Given the description of an element on the screen output the (x, y) to click on. 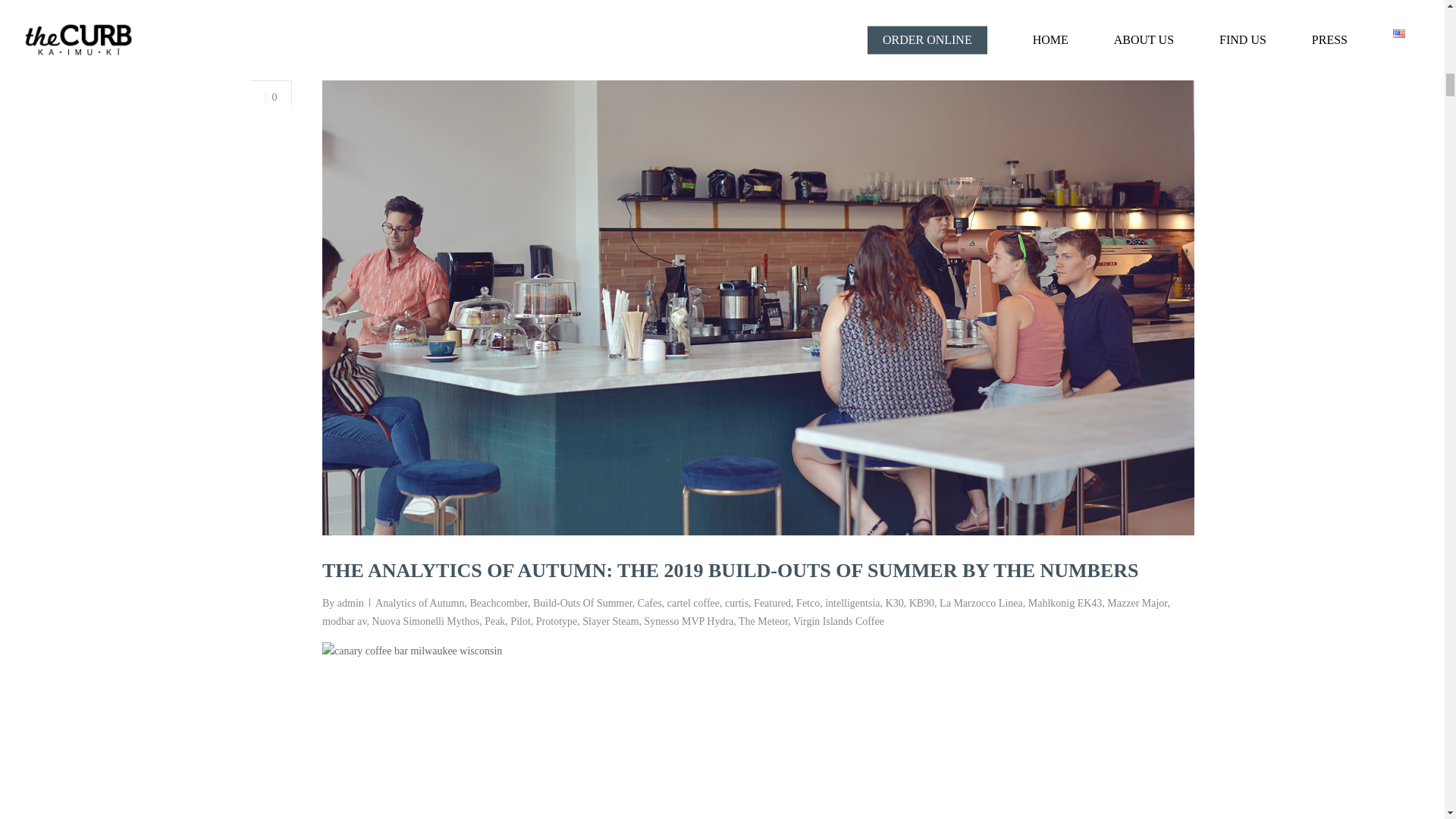
Posts by admin (350, 603)
Love this (269, 98)
0 (269, 98)
